Given the description of an element on the screen output the (x, y) to click on. 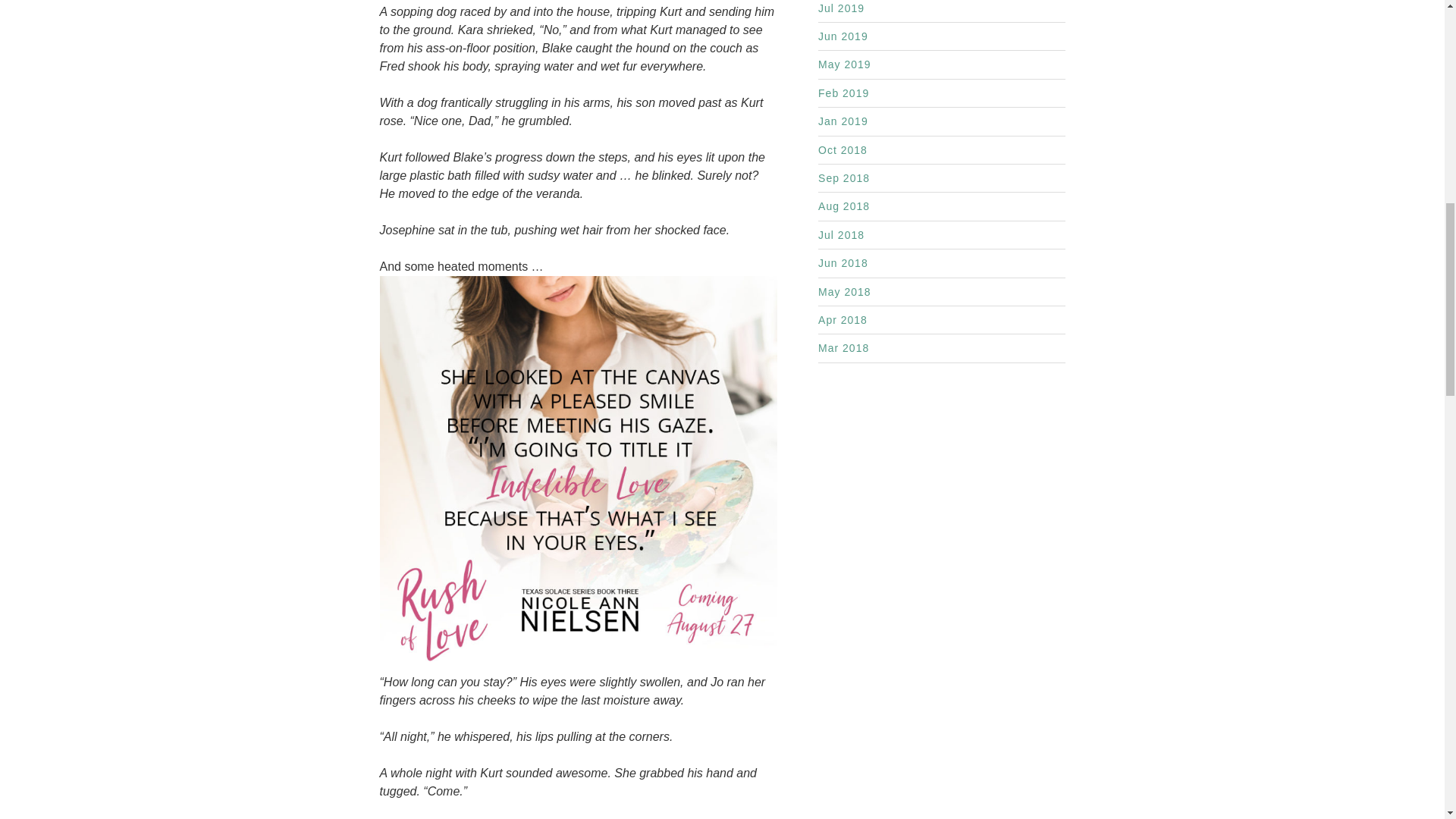
Feb 2019 (843, 92)
Aug 2018 (843, 205)
May 2019 (844, 64)
Sep 2018 (843, 177)
Jun 2019 (842, 36)
Jul 2019 (841, 8)
Oct 2018 (842, 150)
Jan 2019 (842, 121)
